Given the description of an element on the screen output the (x, y) to click on. 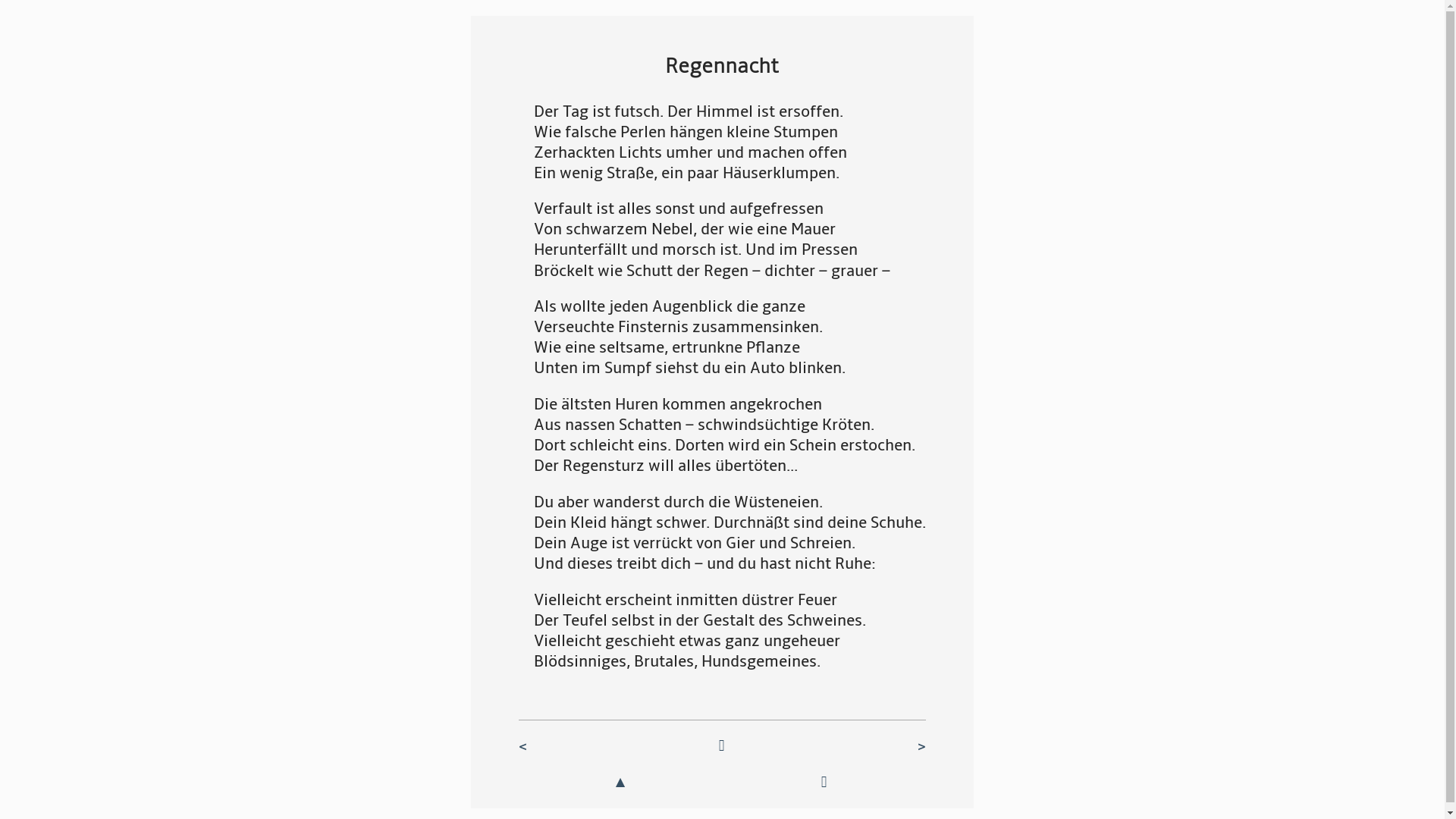
> Element type: text (906, 746)
< Element type: text (538, 746)
